Given the description of an element on the screen output the (x, y) to click on. 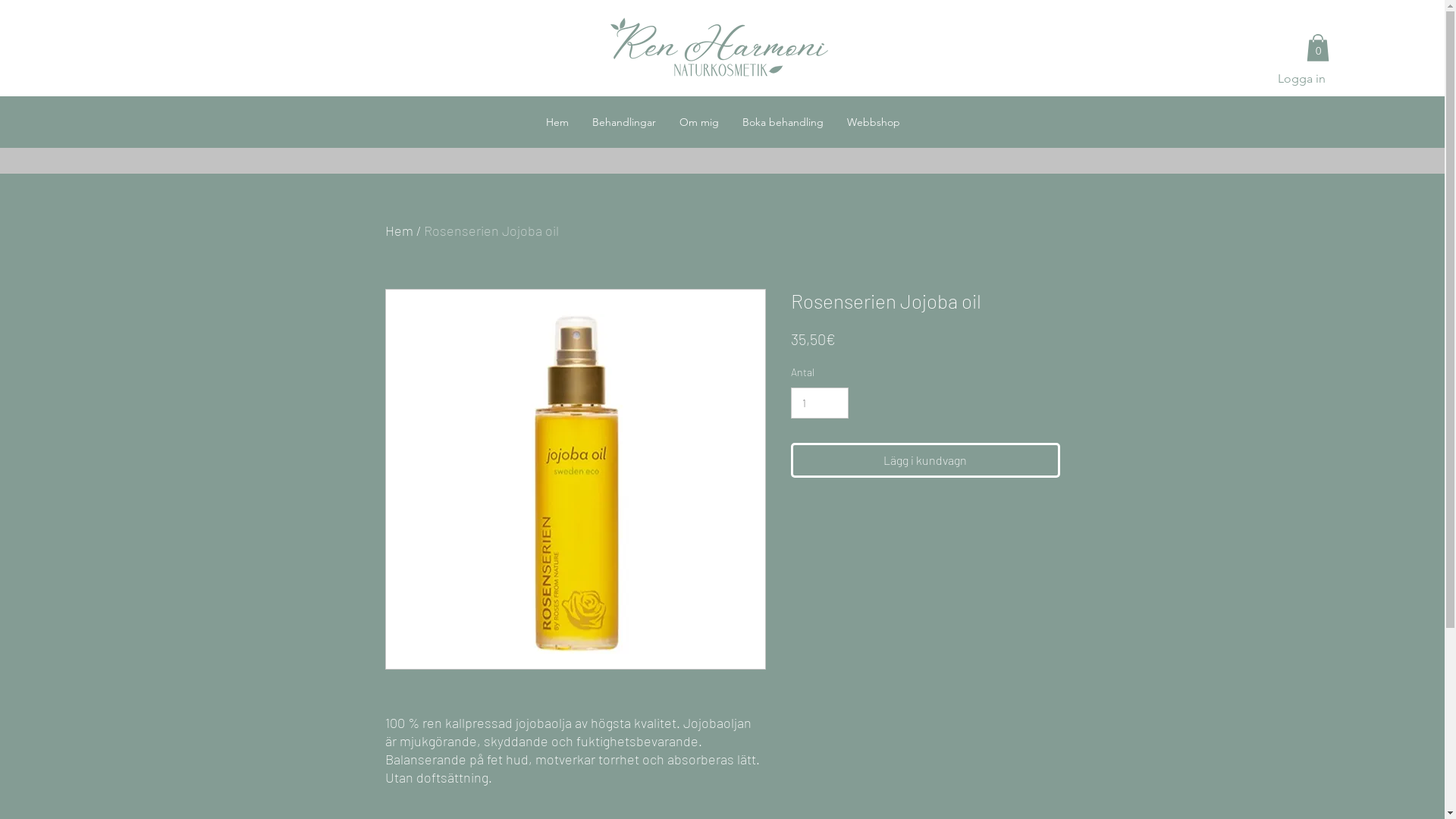
Boka behandling Element type: text (781, 121)
Logga in Element type: text (1301, 78)
Om mig Element type: text (698, 121)
Webbshop Element type: text (872, 121)
0 Element type: text (1317, 47)
0 Element type: text (1426, 70)
Hem Element type: text (399, 230)
Hem Element type: text (556, 121)
Behandlingar Element type: text (622, 121)
